Given the description of an element on the screen output the (x, y) to click on. 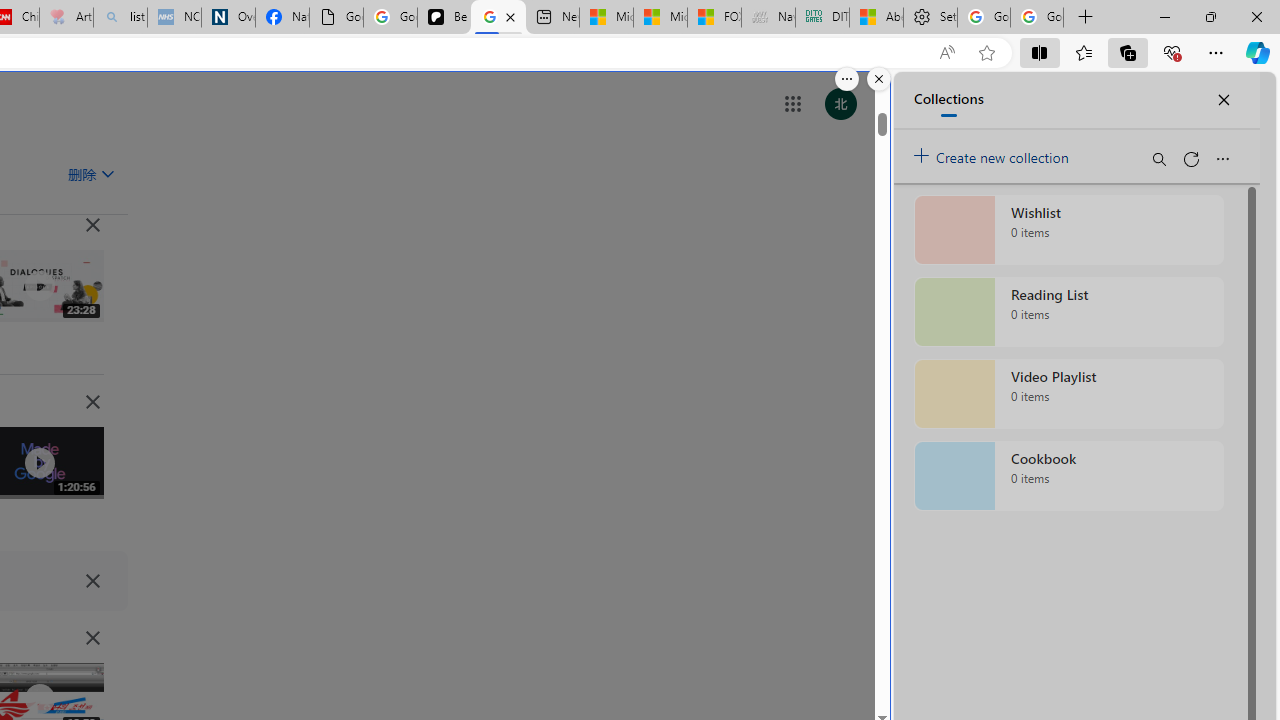
Class: TjcpUd NMm5M (91, 637)
Class: IVR0f NMm5M (38, 699)
More options. (846, 79)
